Given the description of an element on the screen output the (x, y) to click on. 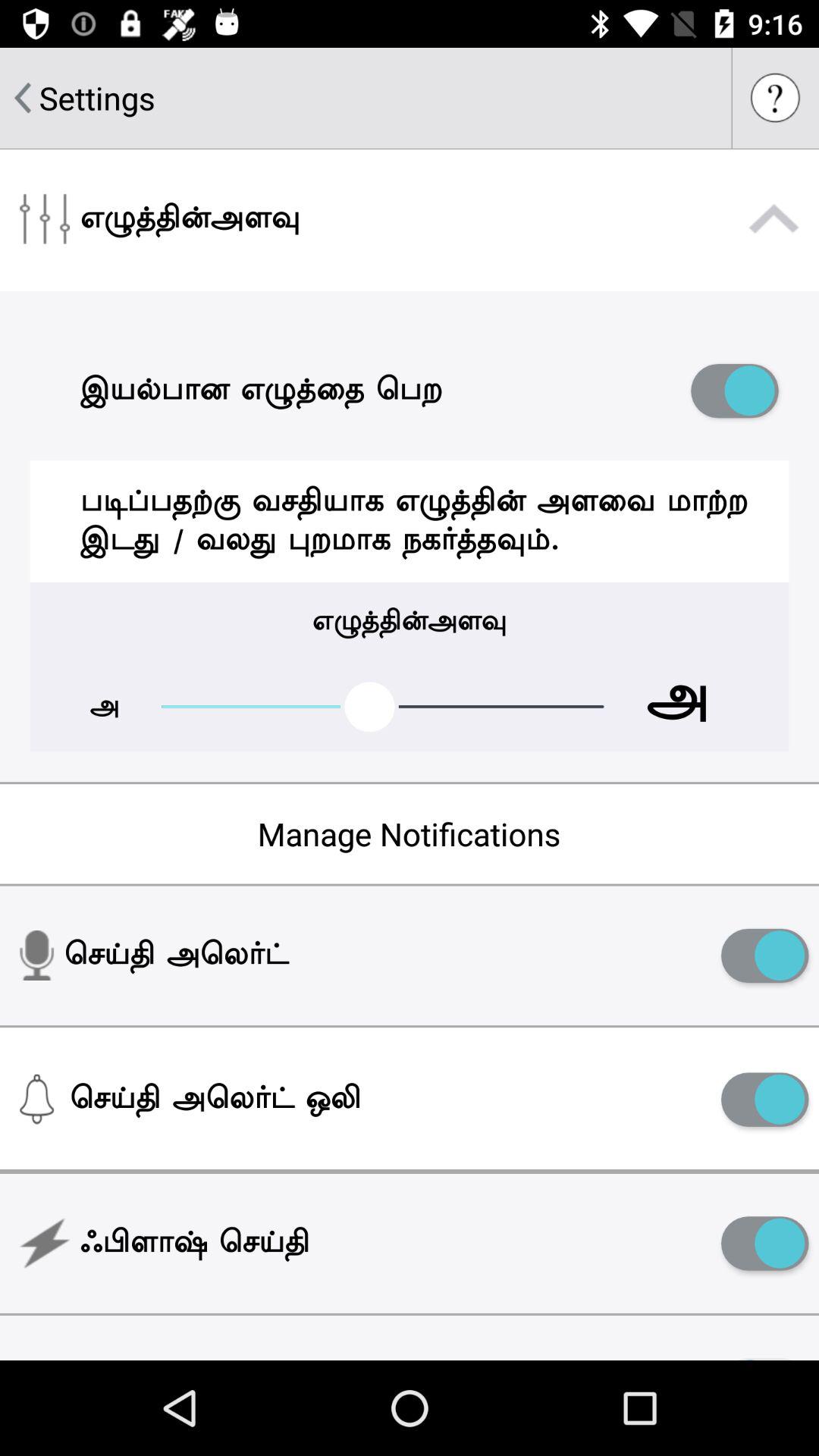
collapse option list (774, 219)
